Given the description of an element on the screen output the (x, y) to click on. 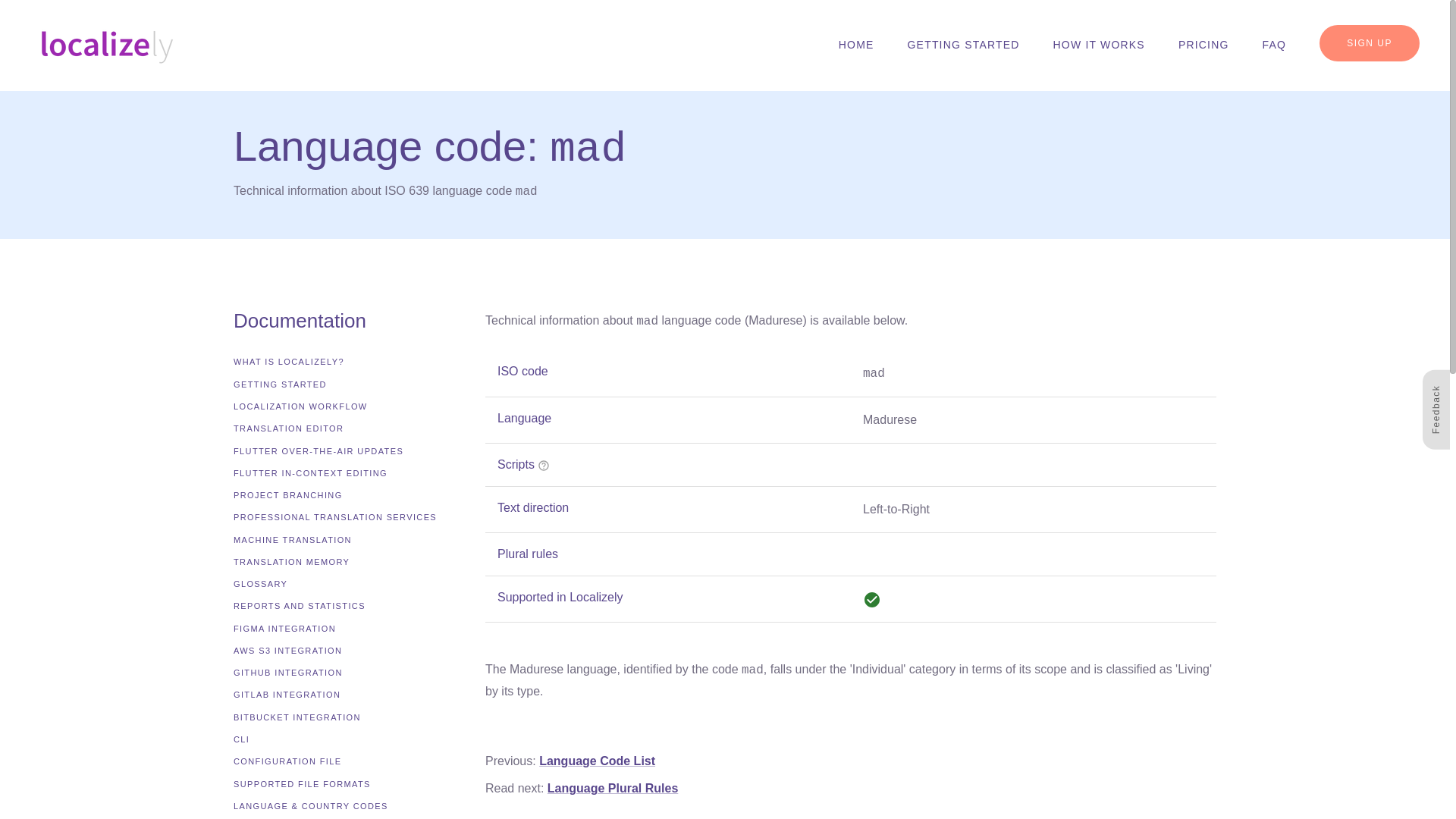
PROJECT BRANCHING (287, 495)
SUPPORTED FILE FORMATS (301, 784)
GETTING STARTED (963, 45)
TRANSLATION EDITOR (287, 428)
WHAT IS LOCALIZELY? (287, 361)
PRICING (1202, 45)
CONFIGURATION FILE (287, 761)
GETTING STARTED (279, 384)
MACHINE TRANSLATION (292, 540)
FIGMA INTEGRATION (284, 628)
REPORTS AND STATISTICS (298, 605)
BITBUCKET INTEGRATION (296, 717)
FLUTTER IN-CONTEXT EDITING (309, 472)
FLUTTER OVER-THE-AIR UPDATES (317, 451)
GITLAB INTEGRATION (286, 694)
